Given the description of an element on the screen output the (x, y) to click on. 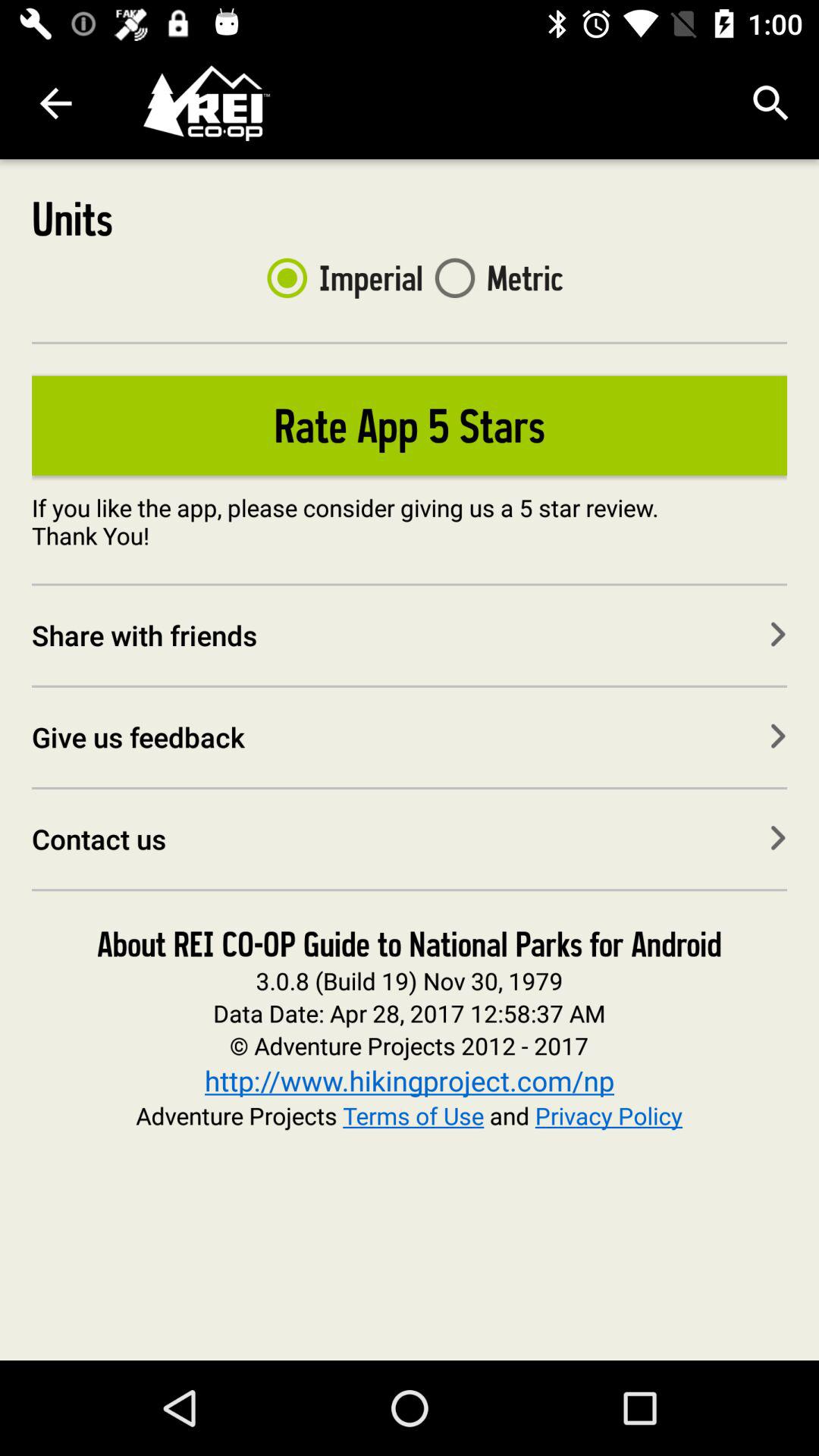
launch item next to the imperial (493, 277)
